Given the description of an element on the screen output the (x, y) to click on. 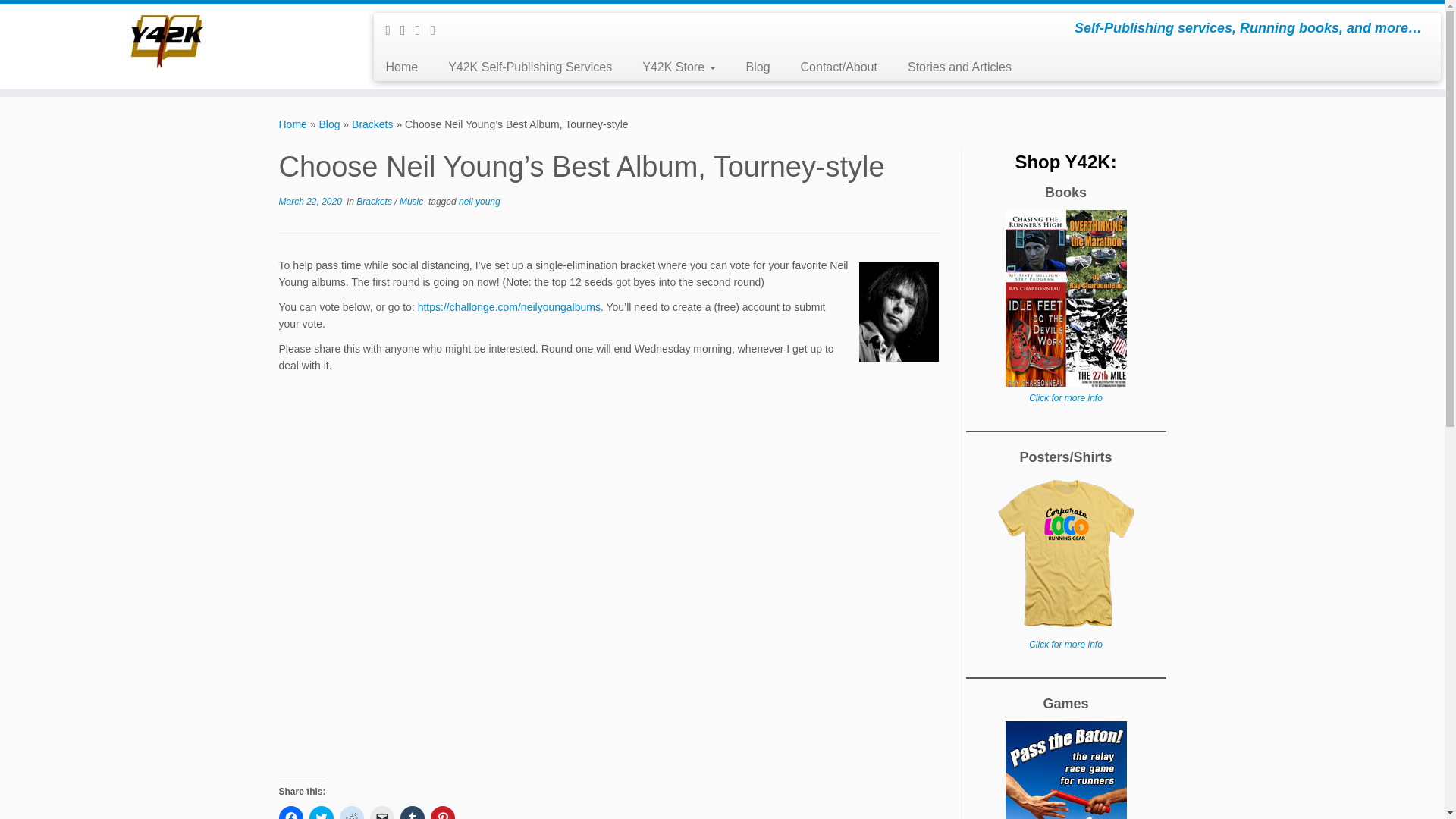
Y42K.com - Ray Charbonneau (293, 123)
Subscribe to my rss feed (392, 29)
Y42K Store (678, 67)
View all posts in Brackets (375, 201)
Click for more info (1065, 644)
Blog (758, 67)
View all posts in Music (412, 201)
Follow me on Twitter (407, 29)
Blog (328, 123)
Follow me on Facebook (422, 29)
Brackets (375, 201)
Follow me on LinkedIn (437, 29)
View all posts in neil young (479, 201)
Y42K Self-Publishing Services (529, 67)
Stories and Articles (951, 67)
